Given the description of an element on the screen output the (x, y) to click on. 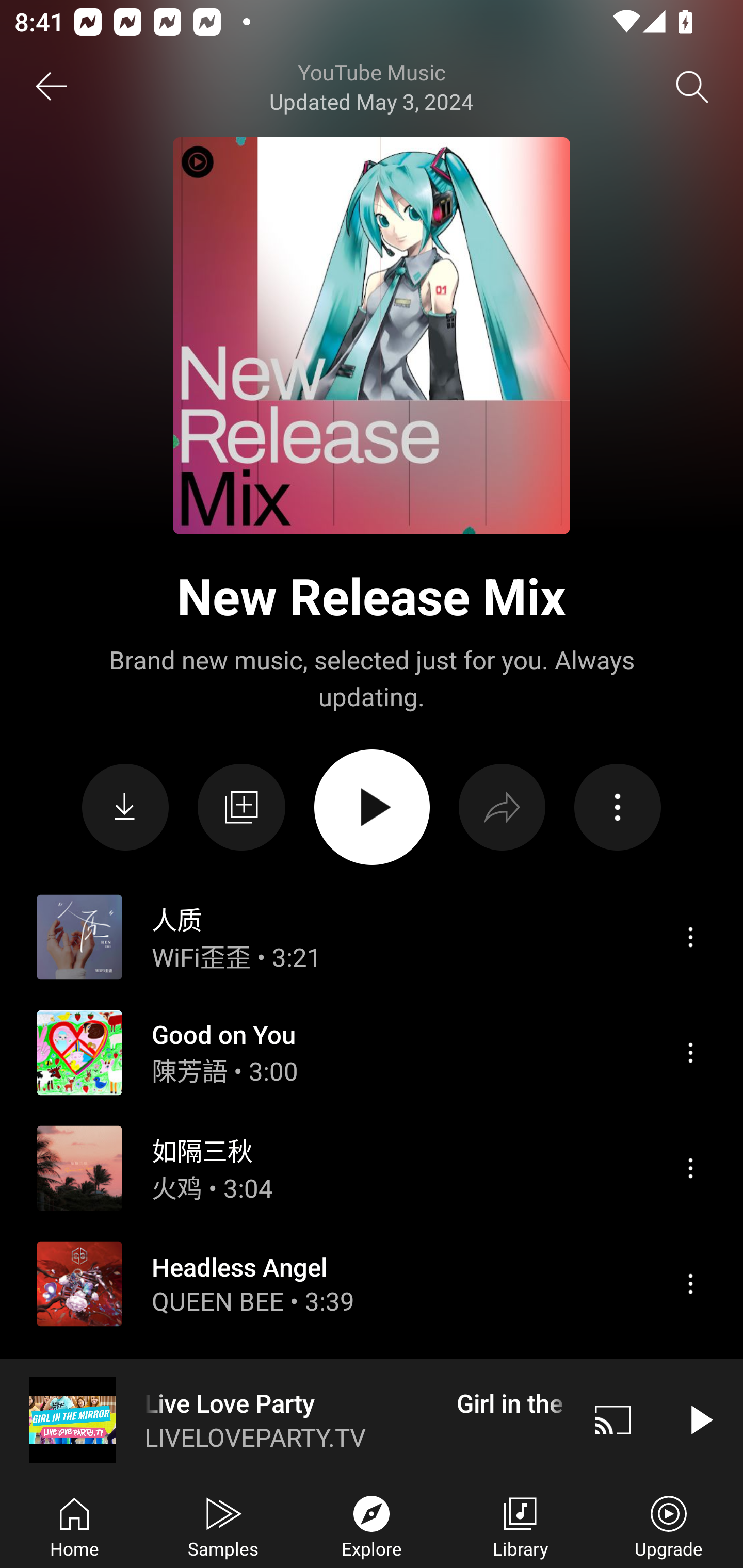
Back (50, 86)
Search (692, 86)
PLAY ALL (371, 807)
Download (125, 807)
Sharing unavailable (501, 807)
Action menu (617, 807)
Save to library (241, 806)
Menu (690, 937)
Menu (690, 1052)
Menu (690, 1168)
Menu (690, 1284)
Cast. Disconnected (612, 1419)
Play video (699, 1419)
Home (74, 1524)
Samples (222, 1524)
Library (519, 1524)
Upgrade (668, 1524)
